Given the description of an element on the screen output the (x, y) to click on. 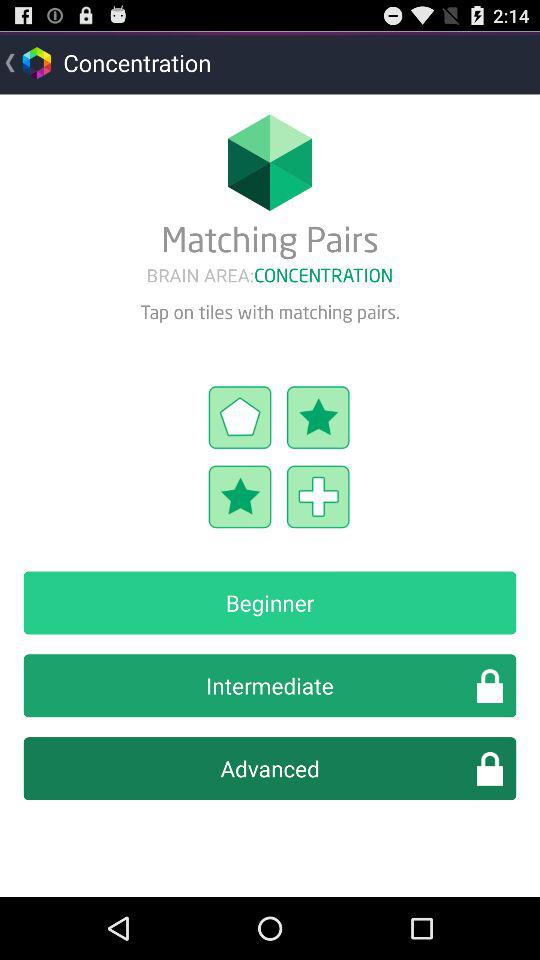
turn off intermediate button (269, 685)
